Given the description of an element on the screen output the (x, y) to click on. 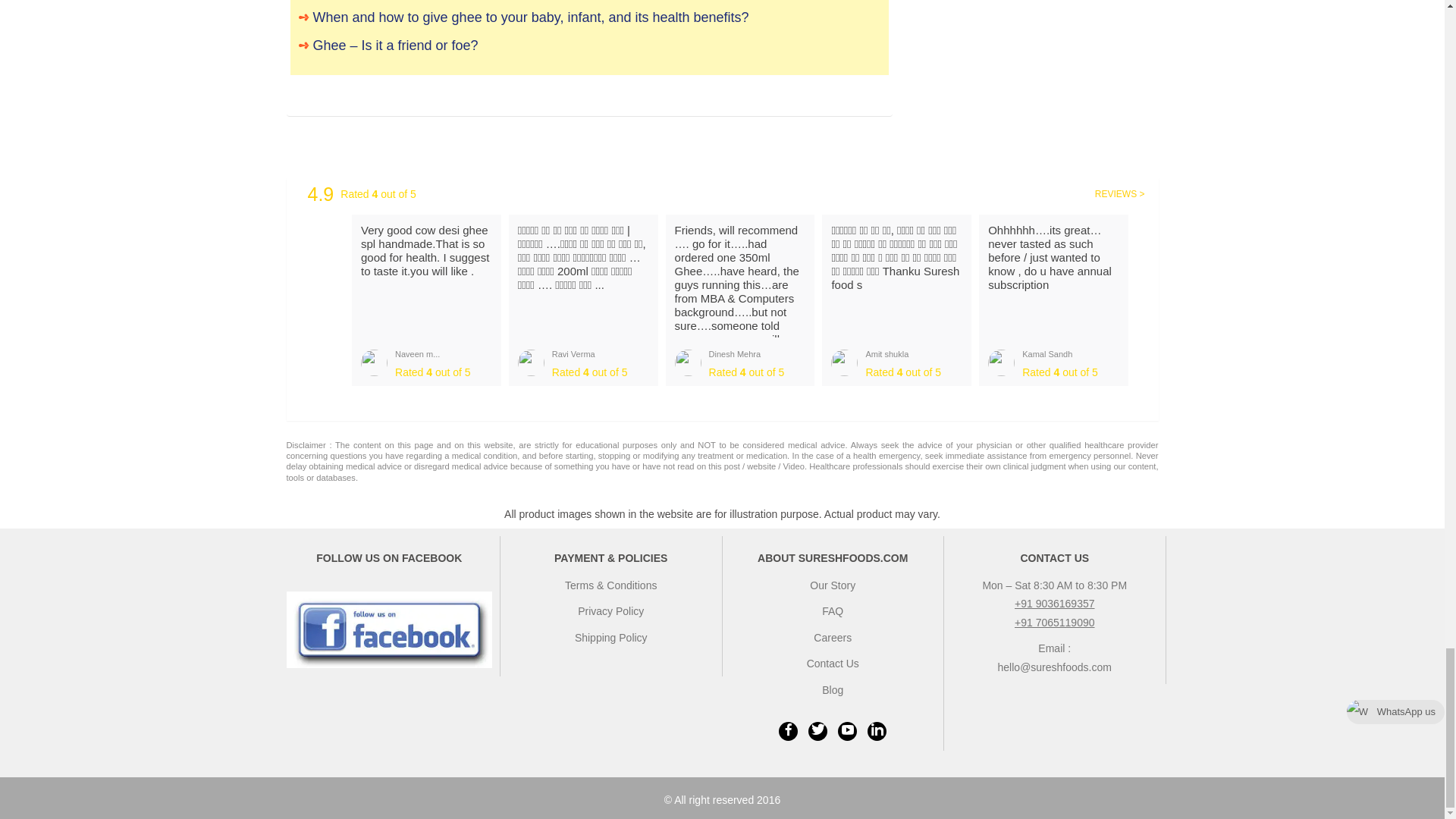
Careers (832, 637)
FAQ (832, 611)
Twitter (817, 731)
Blog (832, 689)
Shipping Policy (611, 637)
Contact Us (832, 663)
Our Story (832, 585)
Facebook (787, 731)
Follow Us on Facebook (389, 629)
Youtube (847, 731)
